Given the description of an element on the screen output the (x, y) to click on. 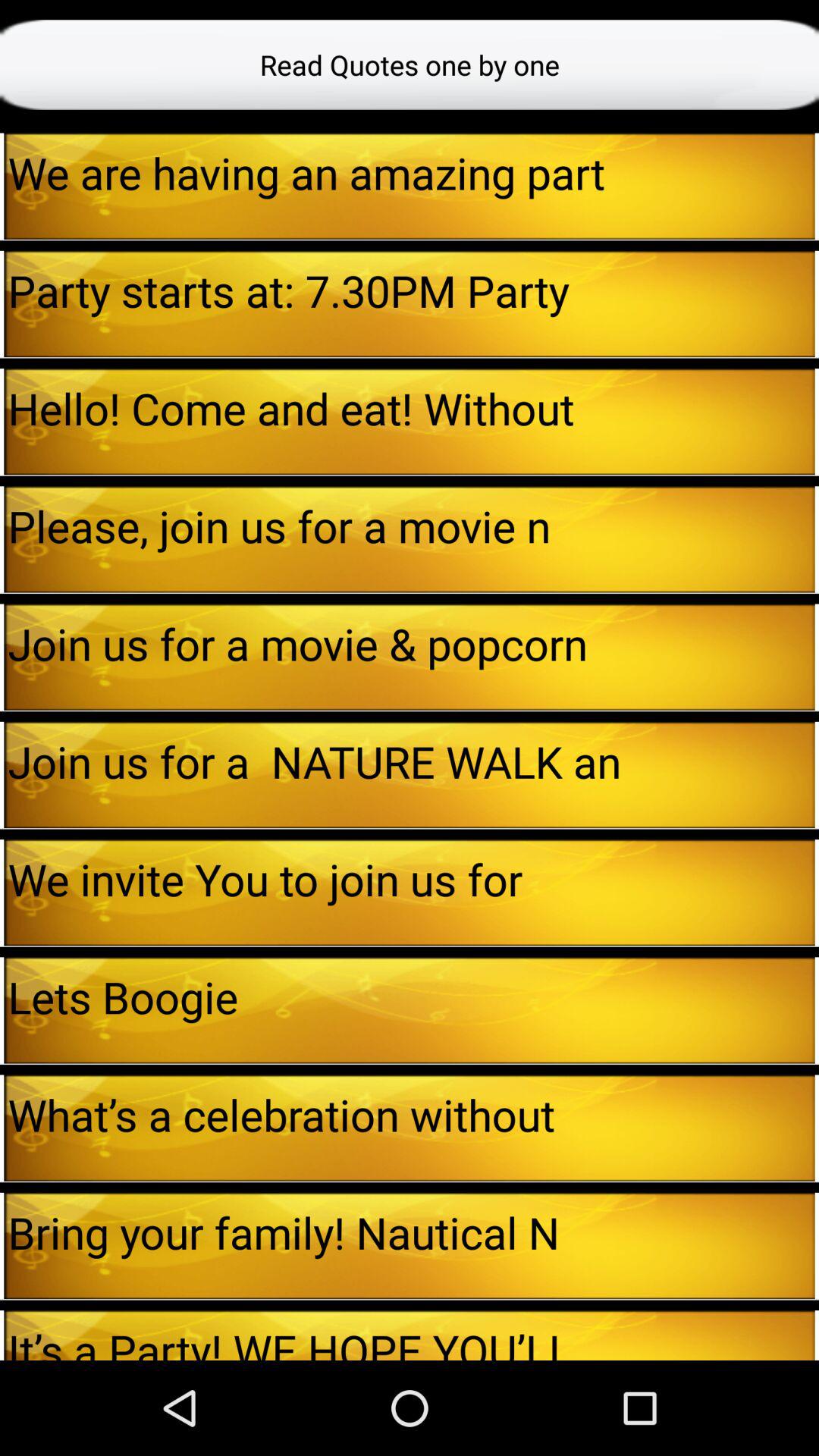
turn off the lets boogie (411, 996)
